Given the description of an element on the screen output the (x, y) to click on. 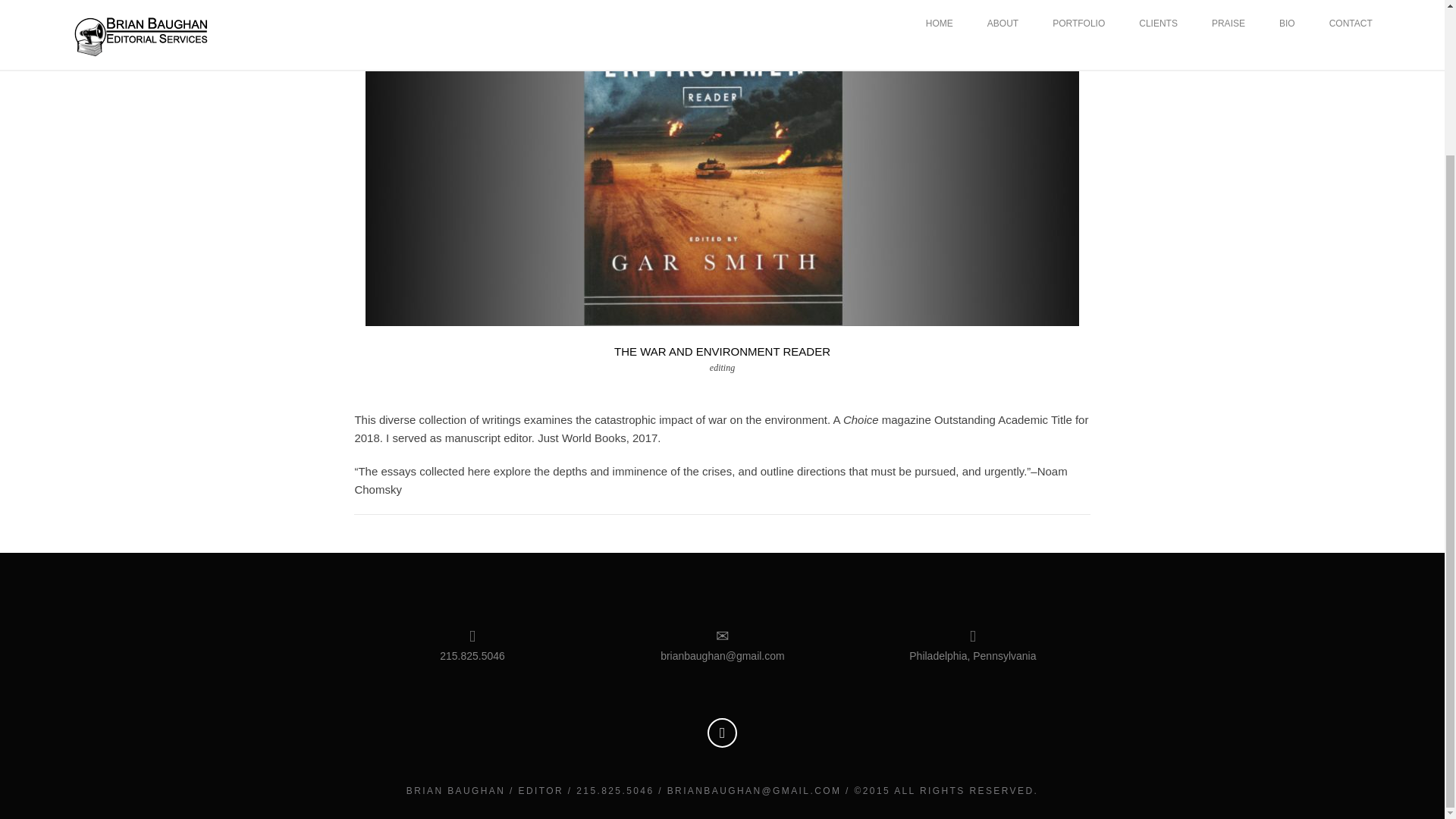
Linkedin (721, 732)
Philadelphia, Pennsylvania (972, 671)
